Given the description of an element on the screen output the (x, y) to click on. 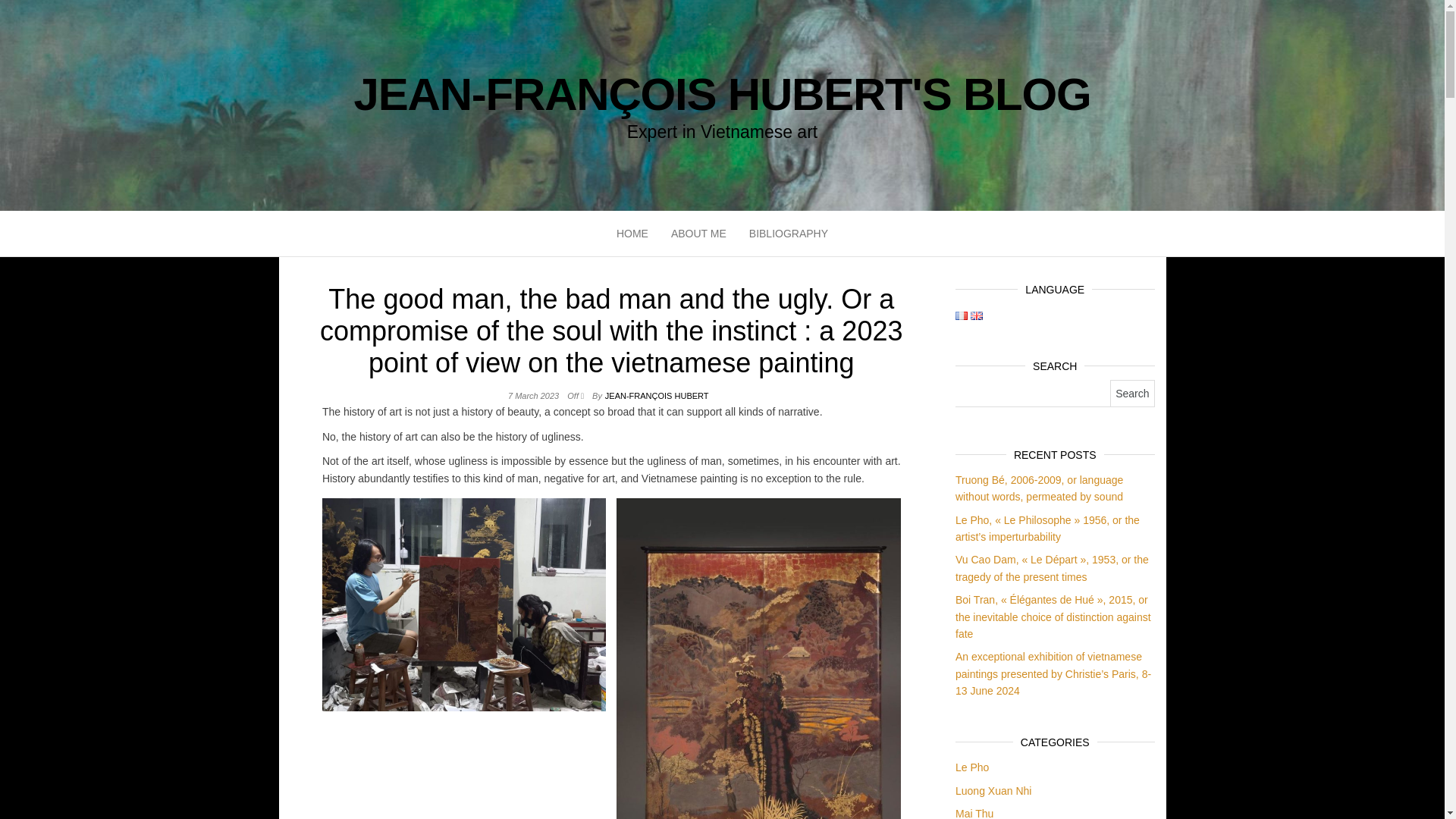
Search (1131, 393)
ABOUT ME (698, 233)
HOME (632, 233)
Home (632, 233)
Bibliography (789, 233)
About me (698, 233)
BIBLIOGRAPHY (789, 233)
